Given the description of an element on the screen output the (x, y) to click on. 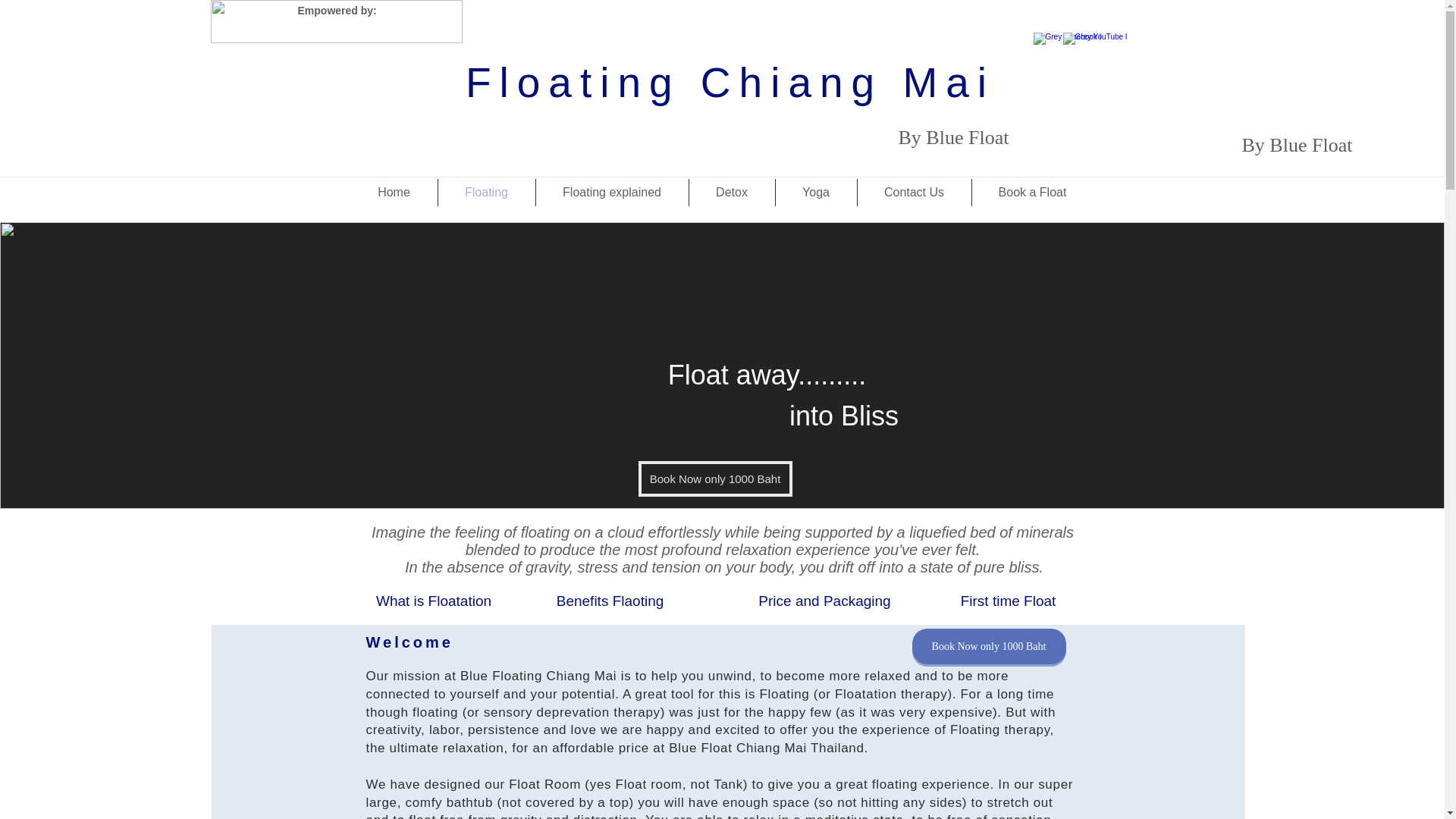
Book Now only 1000 Baht (988, 646)
Contact Us (914, 192)
Book Now only 1000 Baht (715, 478)
Floating (486, 192)
Price and Packaging (824, 601)
Yoga (815, 192)
First time Float (1007, 601)
Home (393, 192)
Floating explained (611, 192)
Book a Float (1032, 192)
Benefits Flaoting (609, 601)
What is Floatation (433, 601)
Detox (731, 192)
